Given the description of an element on the screen output the (x, y) to click on. 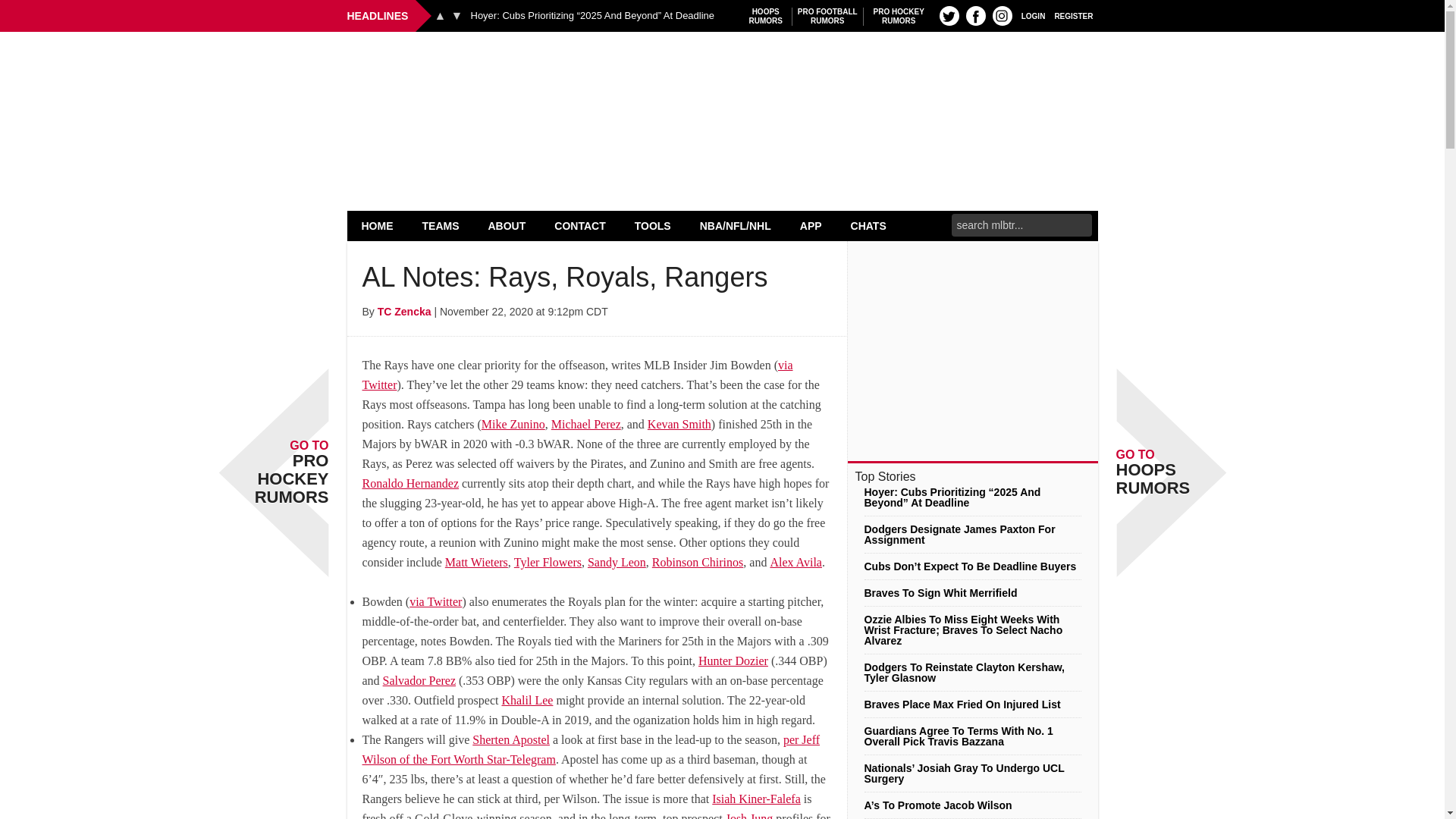
REGISTER (827, 16)
Previous (1073, 15)
Instagram profile (439, 15)
Next (1001, 15)
MLB Trade Rumors (456, 15)
LOGIN (765, 16)
FB profile (898, 16)
HOME (722, 69)
Twitter profile (1032, 15)
TEAMS (975, 15)
Search (377, 225)
